Given the description of an element on the screen output the (x, y) to click on. 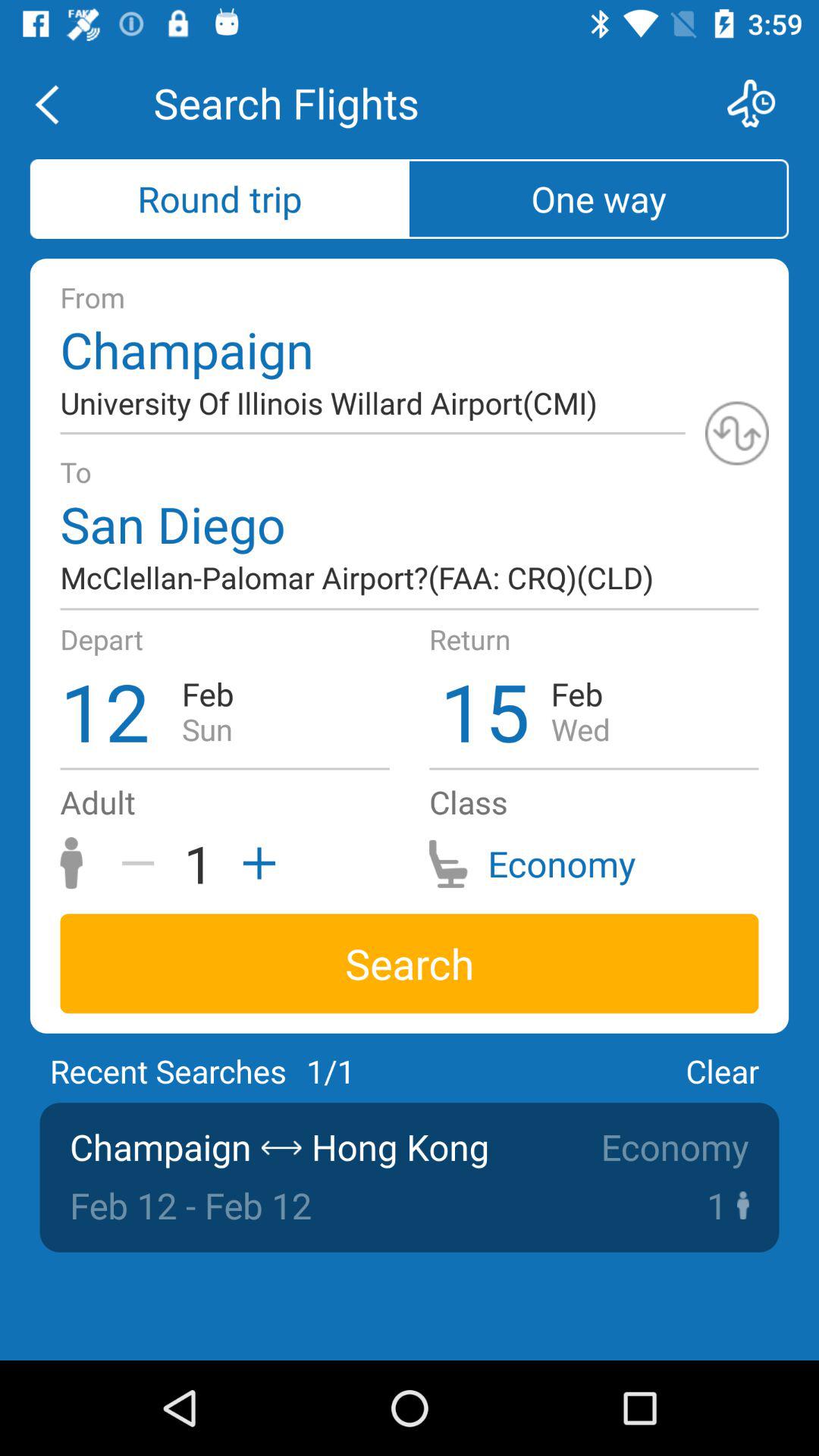
flip until the clear (722, 1070)
